Given the description of an element on the screen output the (x, y) to click on. 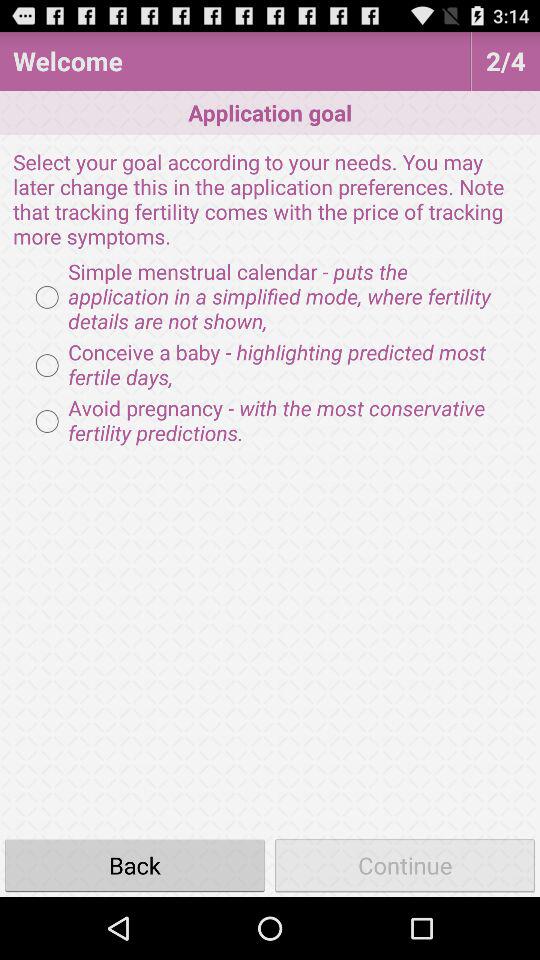
scroll until the back item (135, 864)
